Given the description of an element on the screen output the (x, y) to click on. 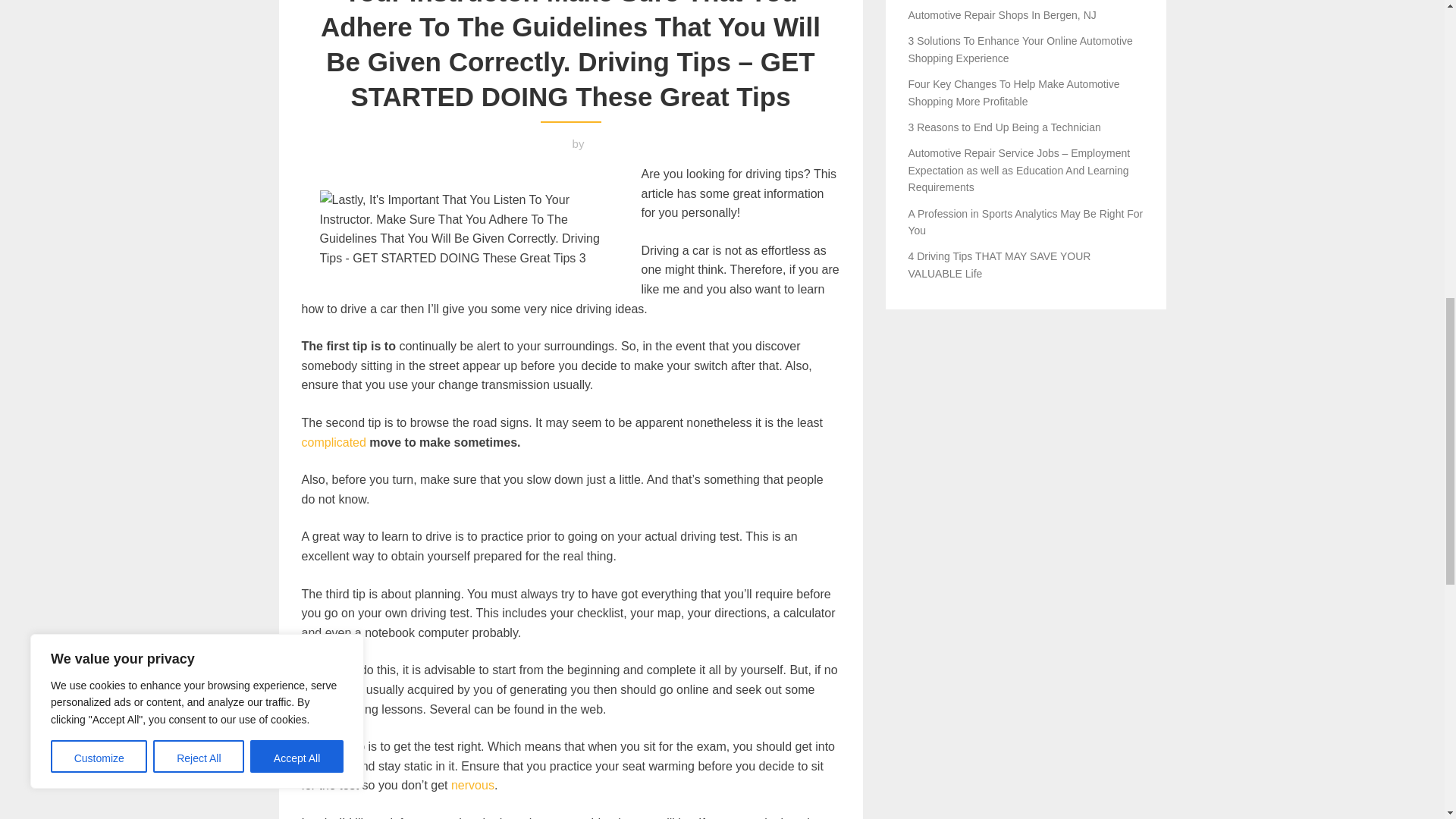
complicated (333, 441)
nervous (473, 784)
Automotive Repair Shops In Bergen, NJ (1002, 15)
